Given the description of an element on the screen output the (x, y) to click on. 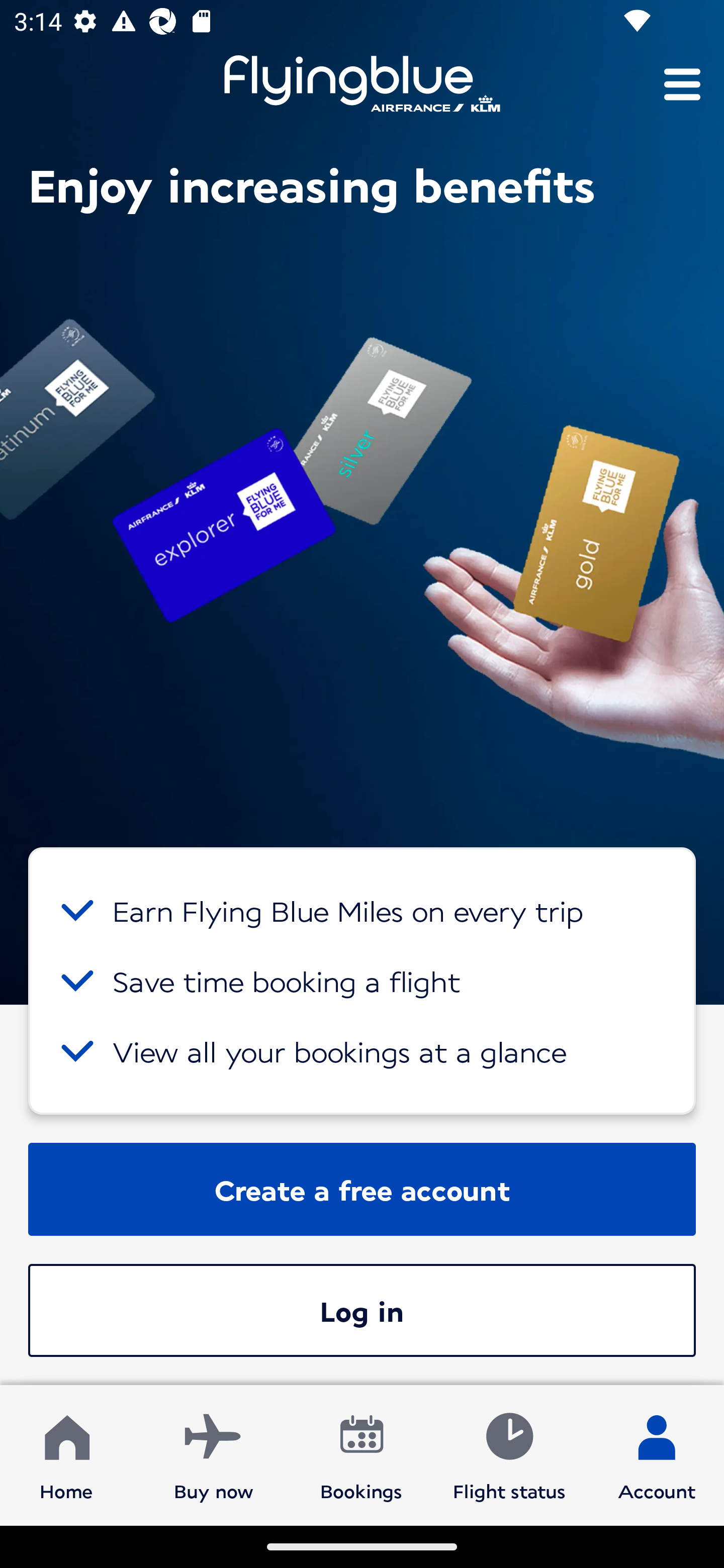
Create a free account (361, 1189)
Log in (361, 1309)
Home (66, 1454)
Buy now (213, 1454)
Bookings (361, 1454)
Flight status (509, 1454)
